Given the description of an element on the screen output the (x, y) to click on. 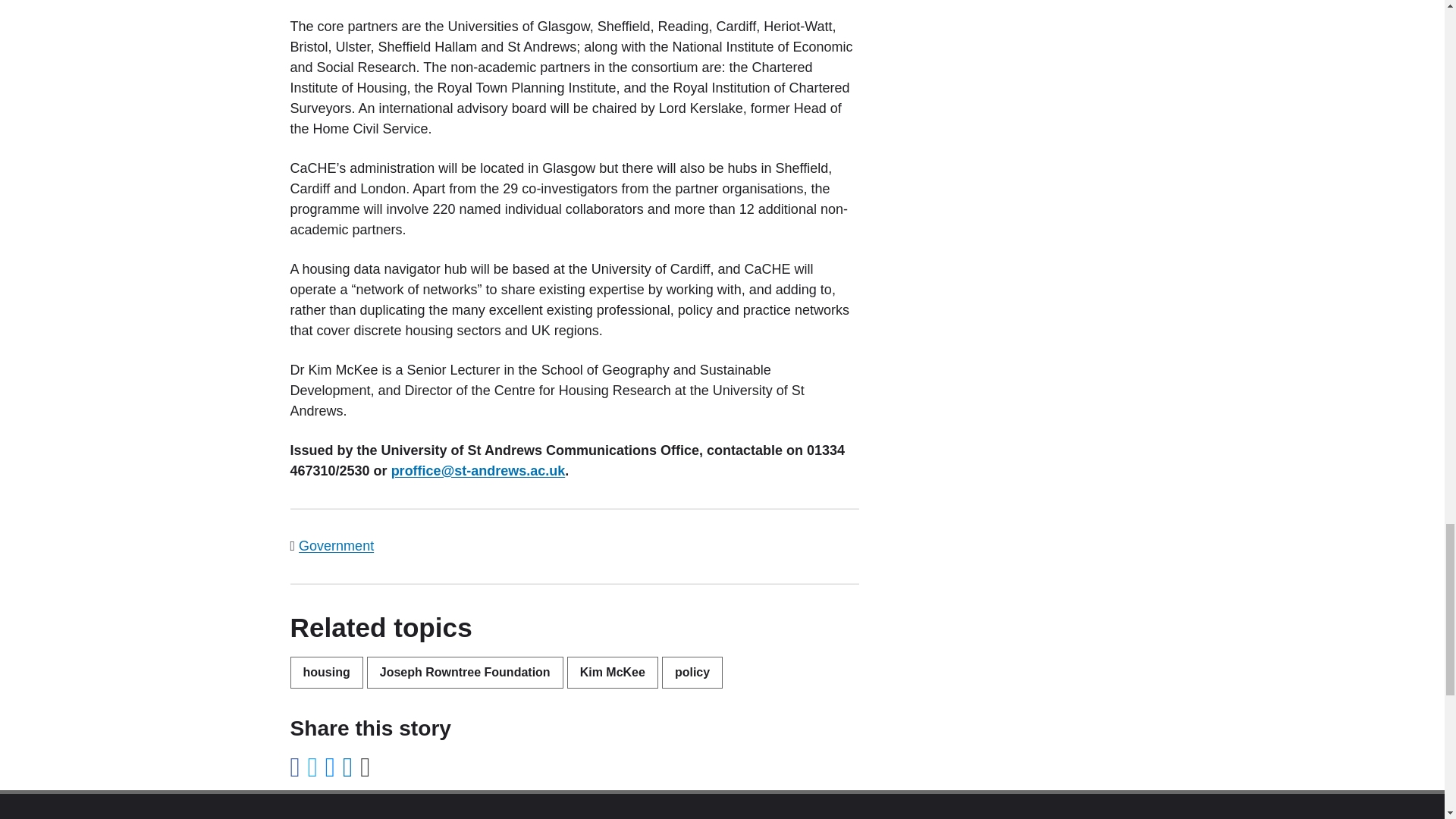
Joseph Rowntree Foundation (464, 672)
policy (692, 672)
housing (325, 672)
Kim McKee (612, 672)
Government (336, 545)
